Given the description of an element on the screen output the (x, y) to click on. 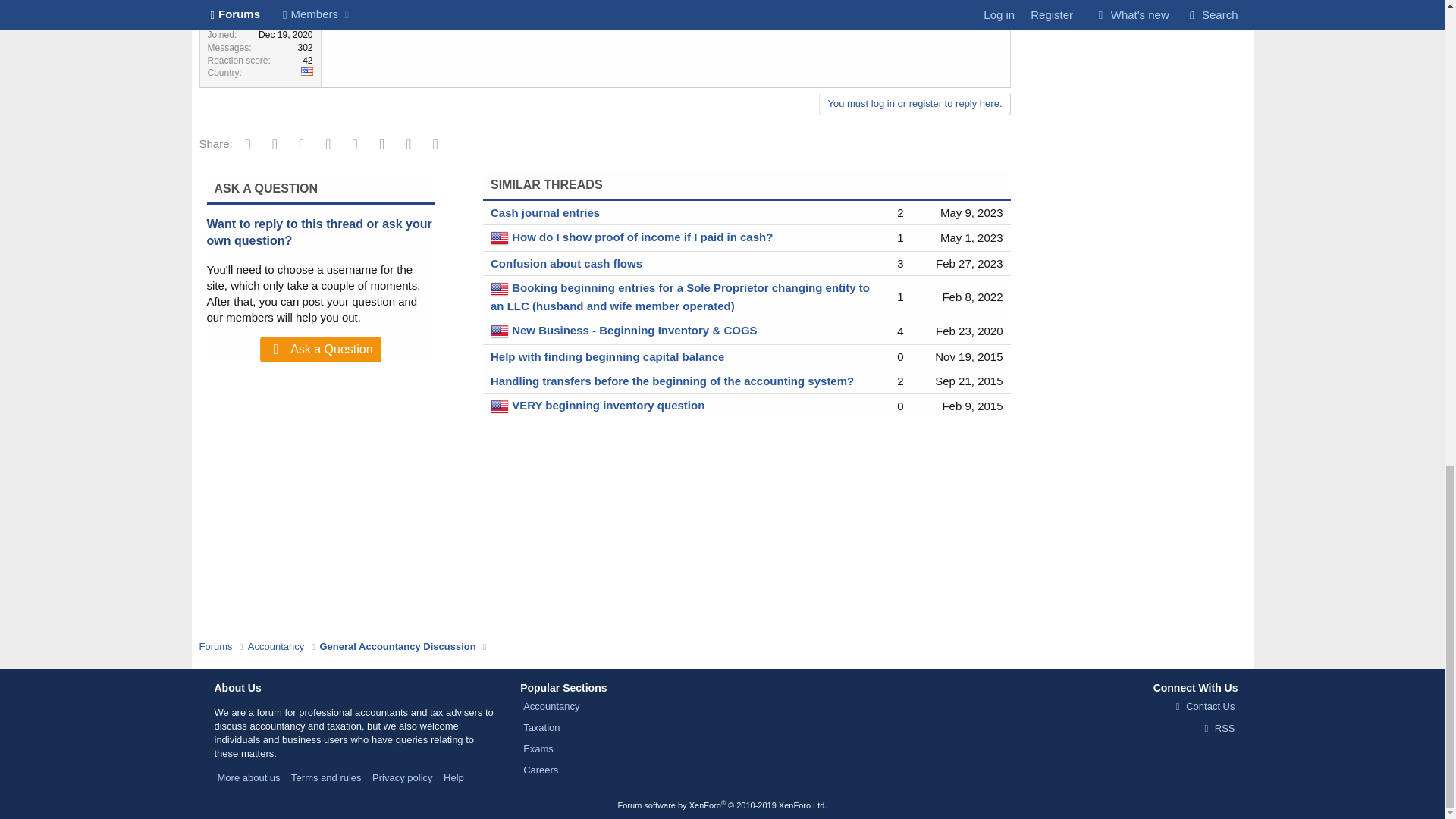
Feb 27, 2023 at 10:02 AM (969, 263)
Feb 9, 2015 at 7:37 PM (972, 405)
May 9, 2023 at 2:37 PM (971, 212)
Nov 19, 2015 at 5:08 PM (968, 356)
Feb 23, 2020 at 5:16 PM (969, 330)
May 1, 2023 at 12:04 PM (971, 237)
BIG E (260, 3)
United States (306, 71)
Sep 21, 2015 at 6:00 PM (968, 380)
Feb 8, 2022 at 2:03 AM (972, 296)
